Given the description of an element on the screen output the (x, y) to click on. 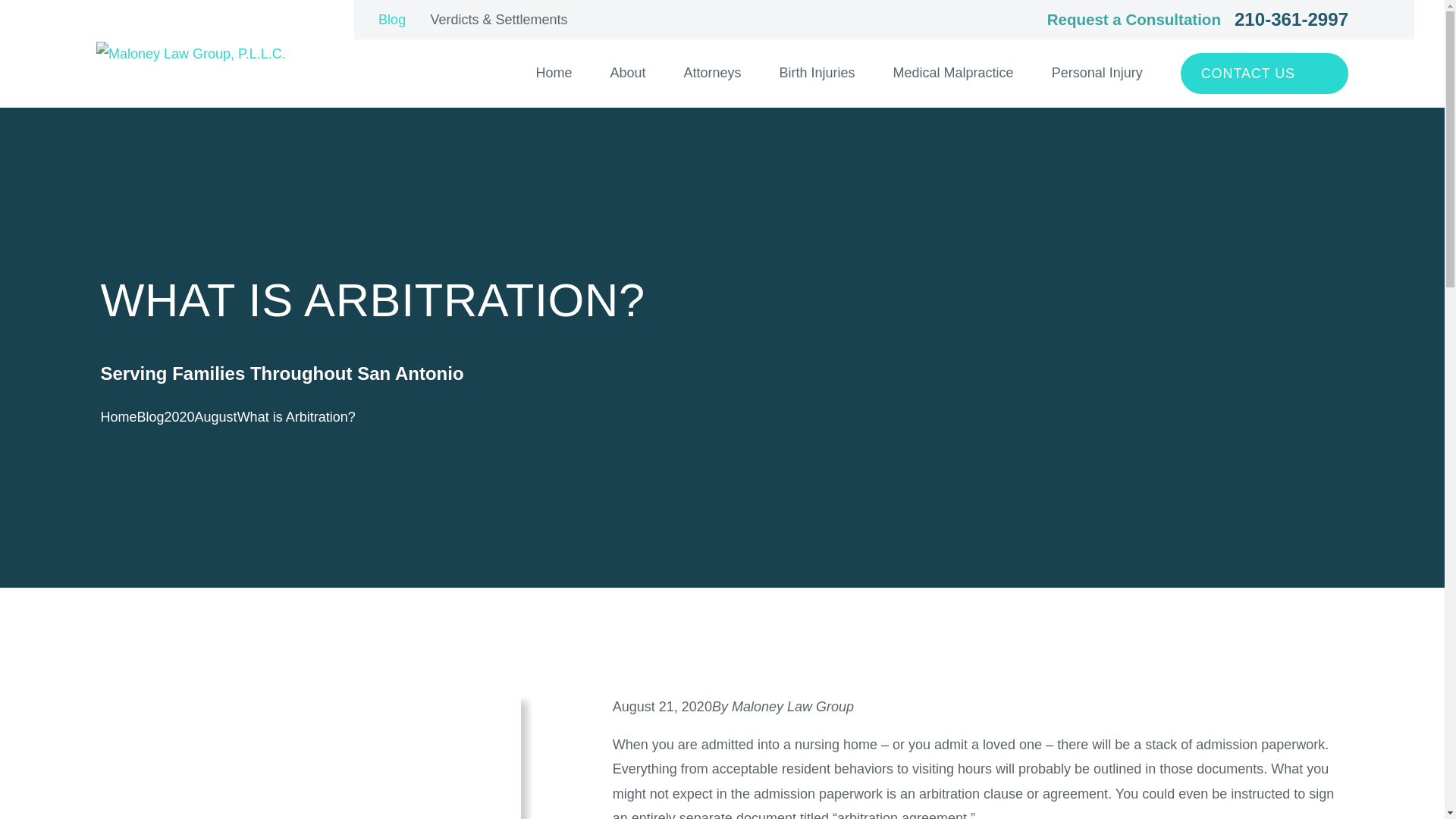
Personal Injury (1096, 72)
Birth Injuries (817, 72)
Home (190, 53)
Attorneys (711, 72)
Go Home (118, 417)
Home (553, 72)
Medical Malpractice (953, 72)
Blog (392, 19)
About (627, 72)
210-361-2997 (1291, 19)
